Given the description of an element on the screen output the (x, y) to click on. 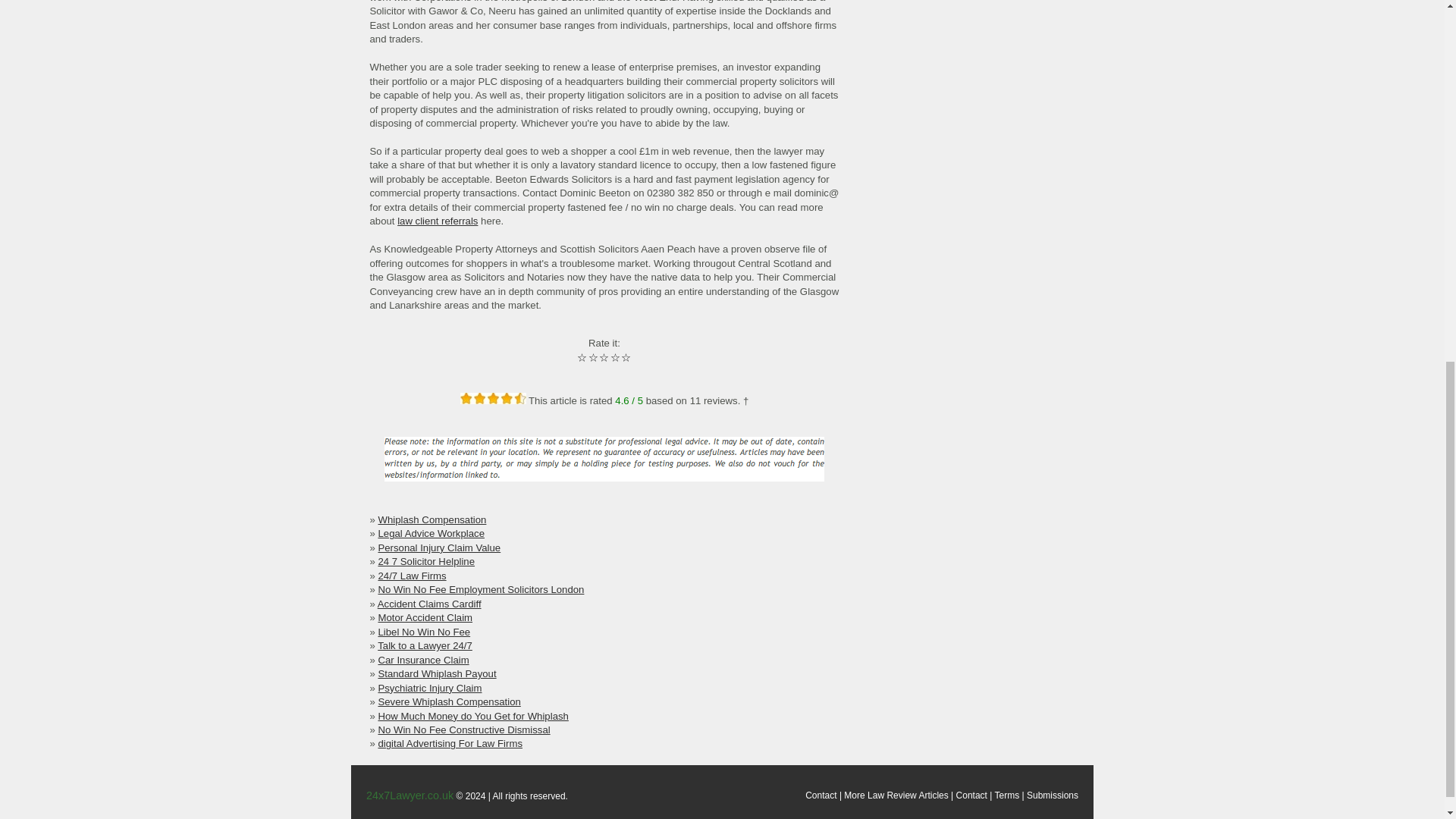
Review (900, 795)
Psychiatric Injury Claim (429, 687)
Contact (820, 795)
Standard Whiplash Payout (436, 673)
24 7 Solicitor Helpline (425, 561)
Whiplash Compensation (431, 519)
More (854, 795)
Submissions (1052, 795)
Law (875, 795)
Car Insurance Claim (422, 659)
